Given the description of an element on the screen output the (x, y) to click on. 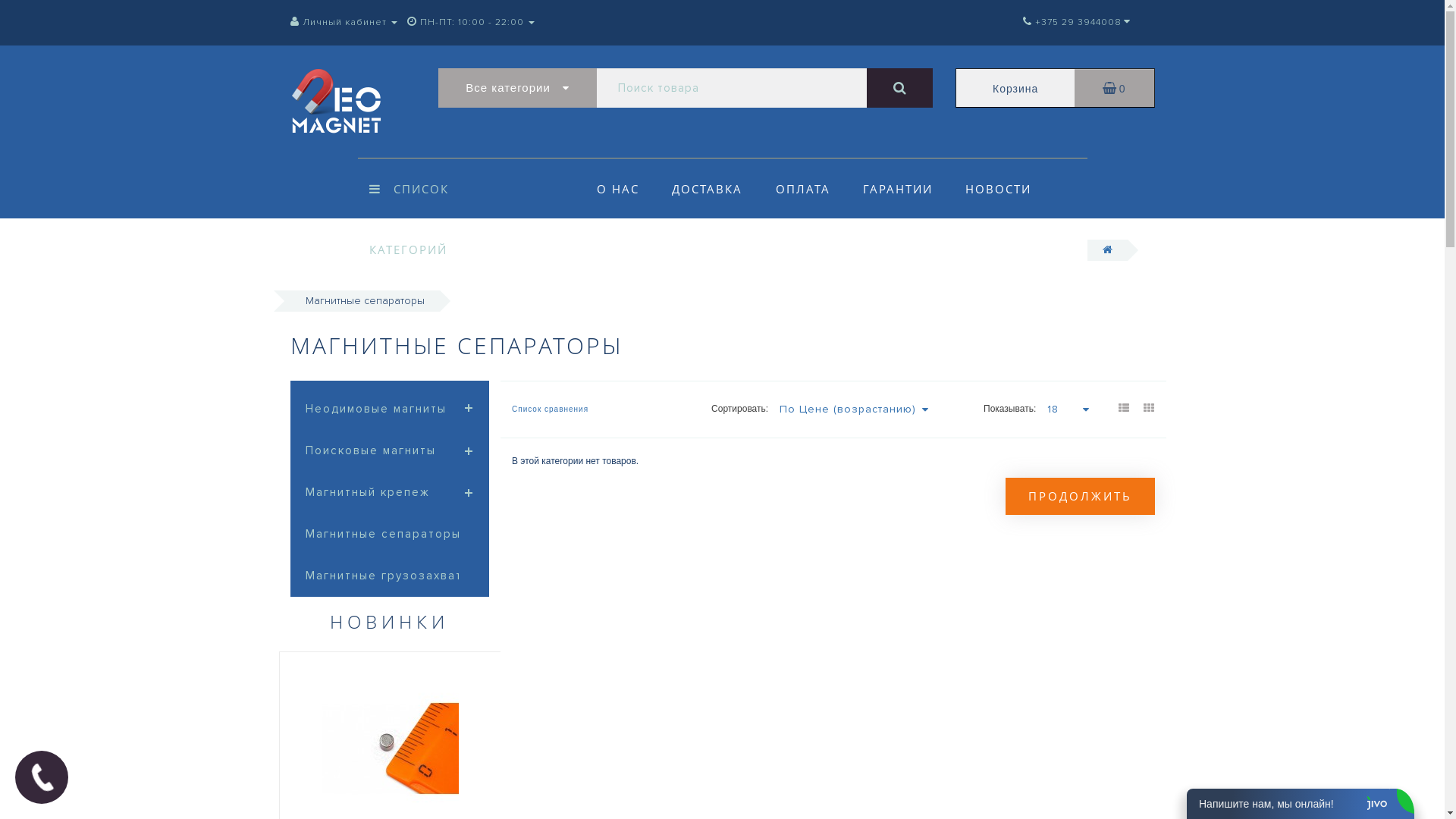
+375 29 3944008 Element type: text (1071, 22)
